Given the description of an element on the screen output the (x, y) to click on. 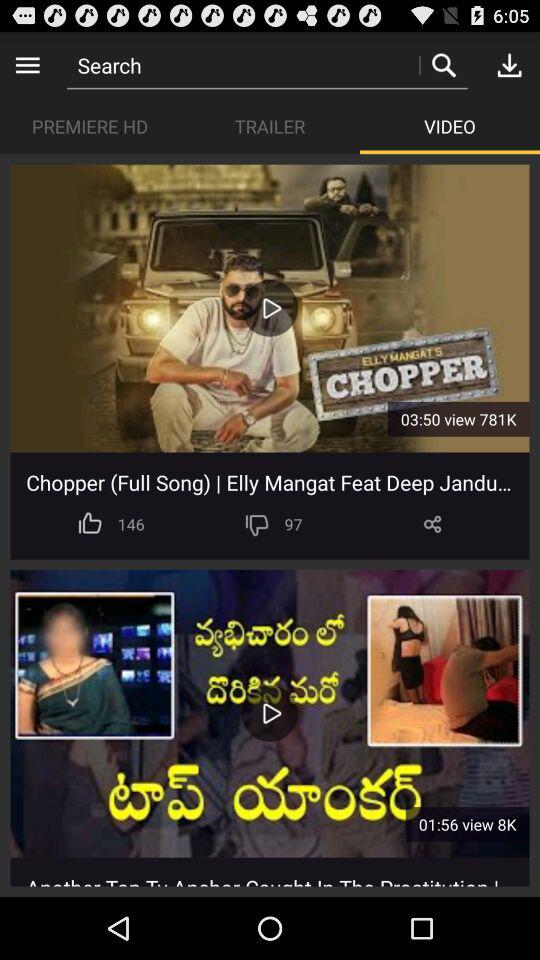
choose the app next to the video app (270, 125)
